Given the description of an element on the screen output the (x, y) to click on. 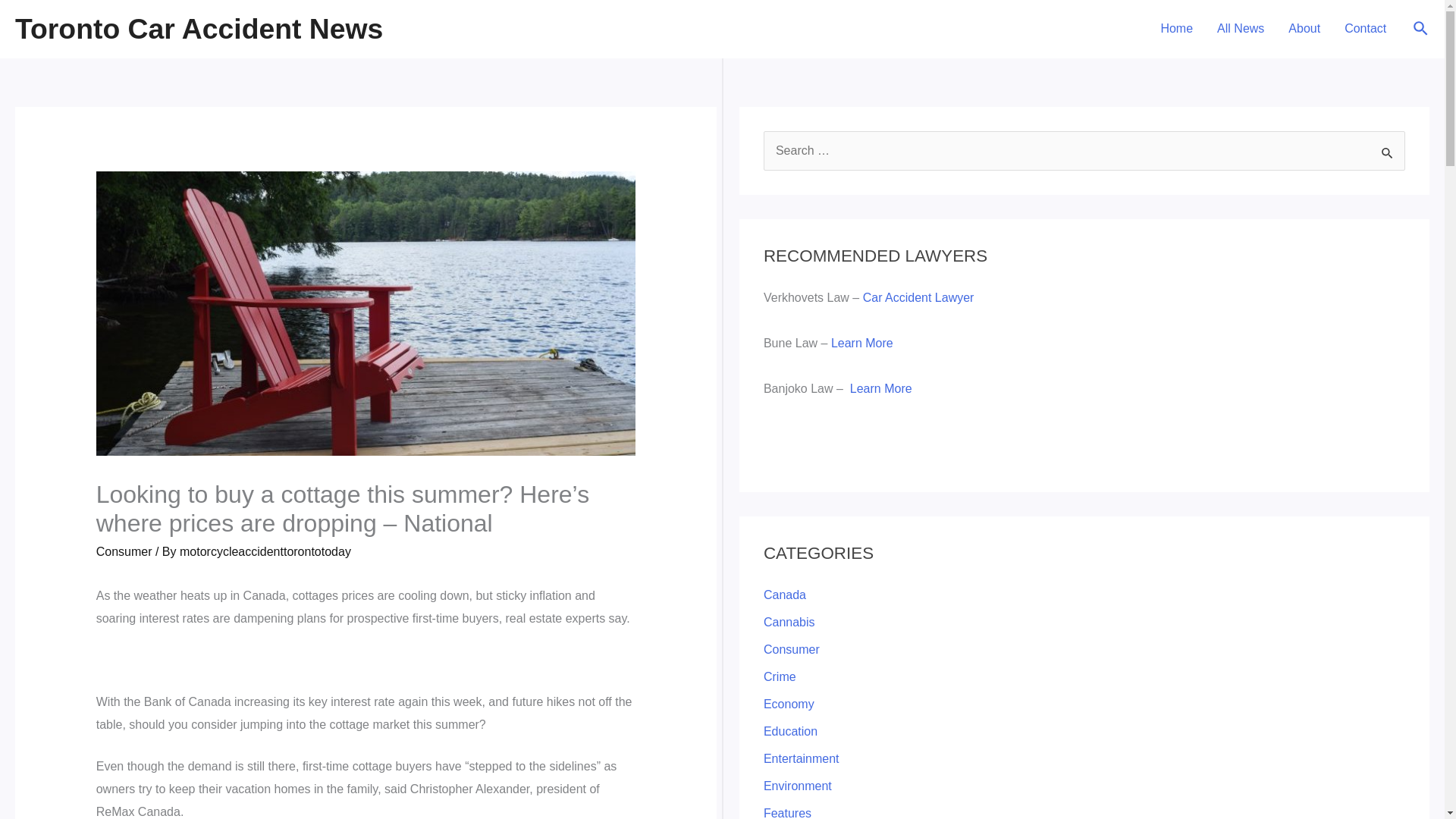
Cannabis (788, 621)
Contact (1364, 28)
Car Accident Lawyer (918, 297)
About (1304, 28)
Features (786, 812)
Crime (779, 676)
All News (1240, 28)
Learn More (862, 342)
View all posts by motorcycleaccidenttorontotoday (264, 551)
Consumer (124, 551)
